Given the description of an element on the screen output the (x, y) to click on. 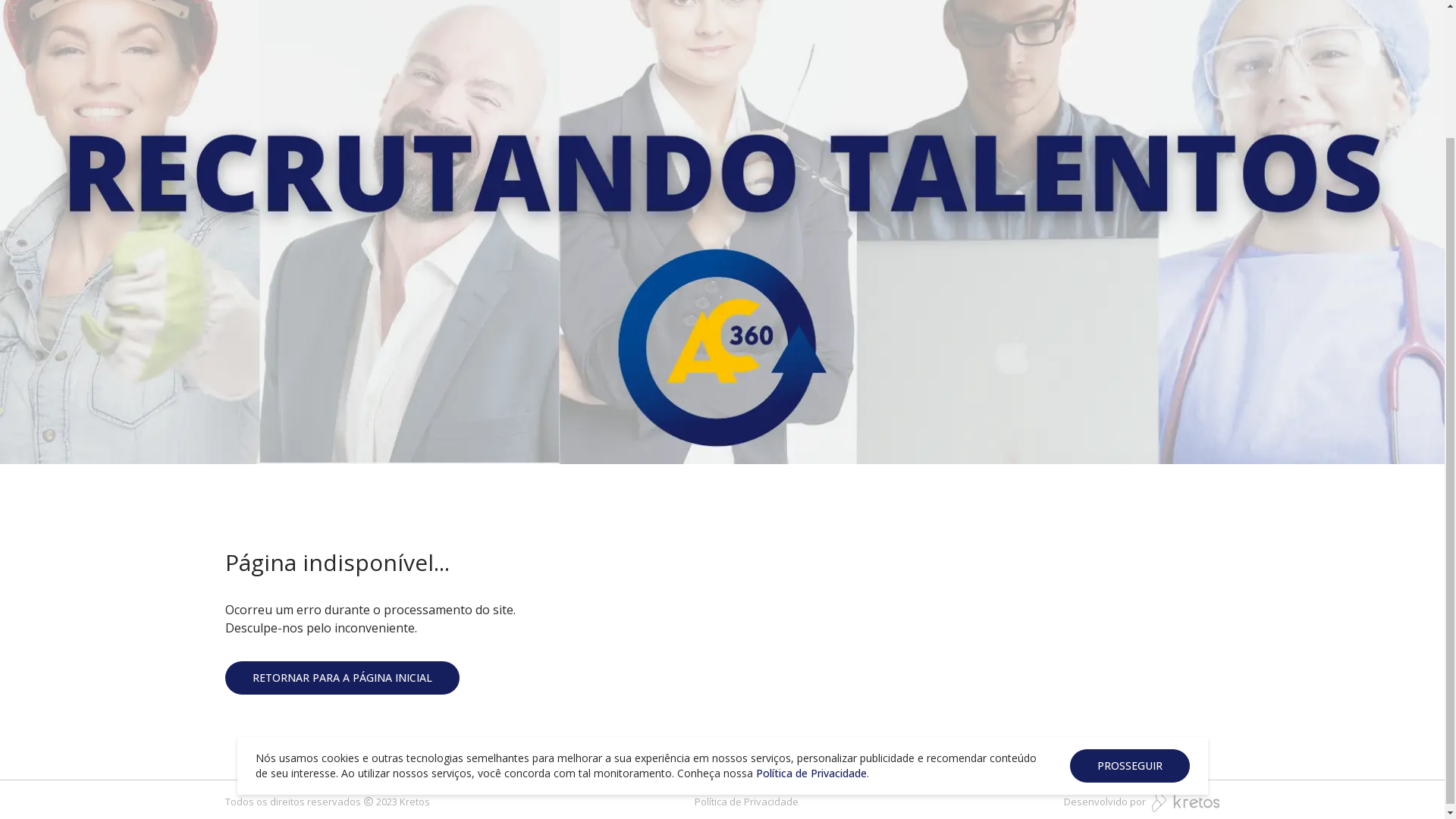
Acesso do Candidato Element type: text (1144, 20)
Oportunidades Element type: text (972, 20)
